Given the description of an element on the screen output the (x, y) to click on. 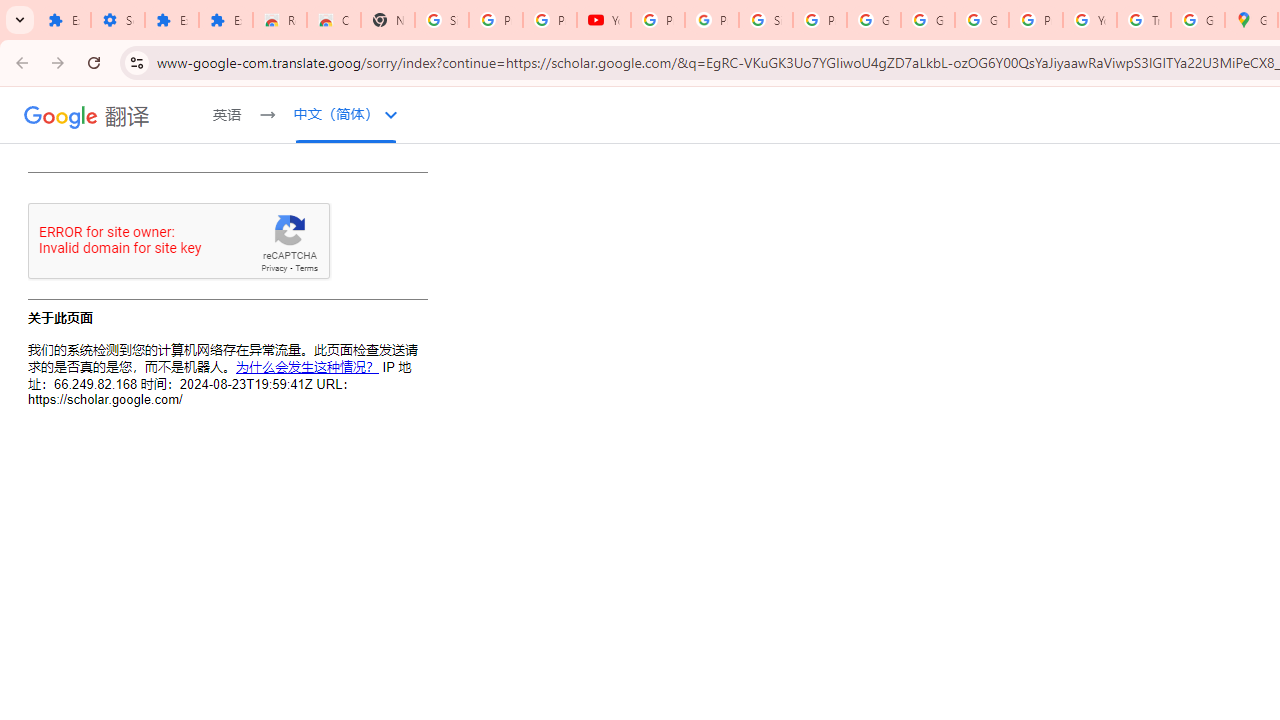
YouTube (604, 20)
Extensions (63, 20)
